Given the description of an element on the screen output the (x, y) to click on. 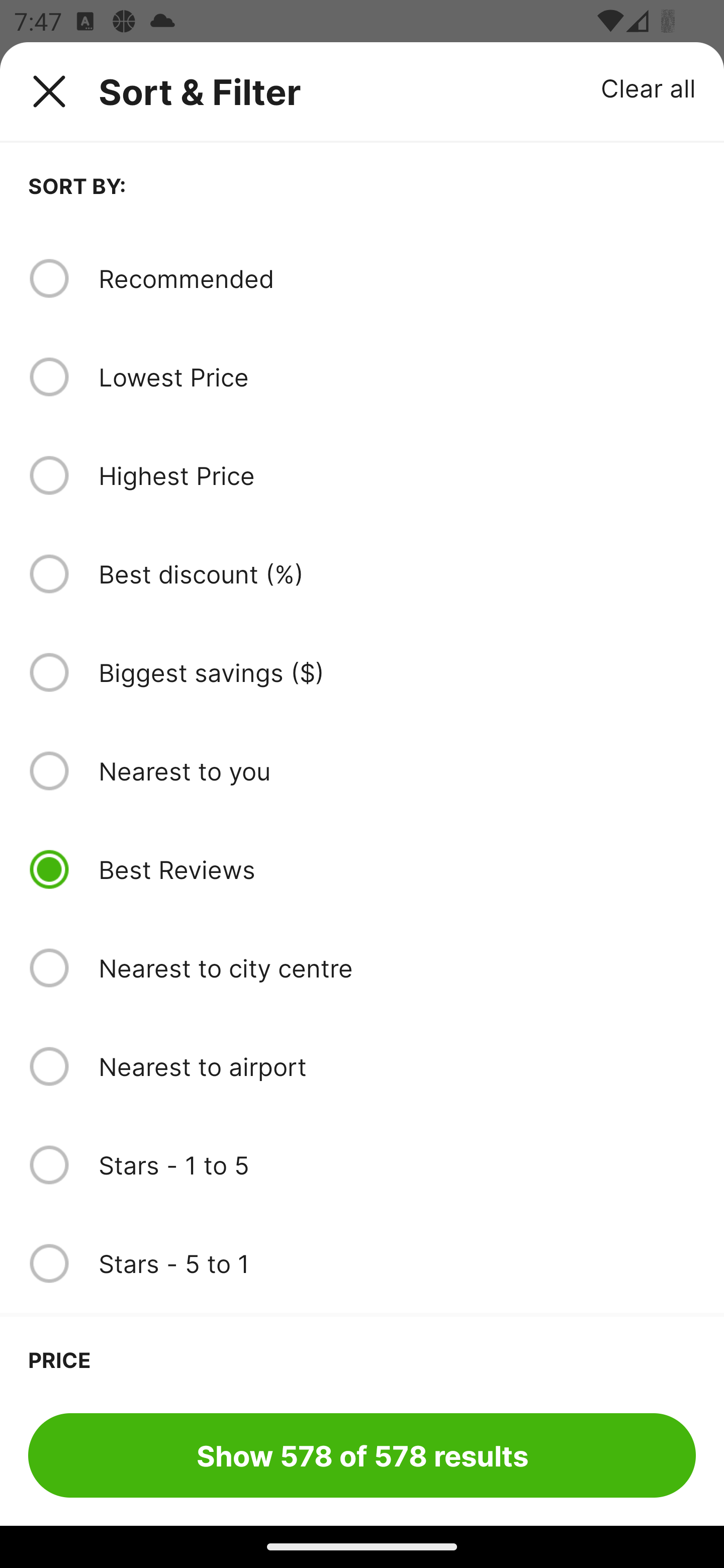
Clear all (648, 87)
Recommended  (396, 278)
Lowest Price (396, 377)
Highest Price (396, 474)
Best discount (%) (396, 573)
Biggest savings ($) (396, 672)
Nearest to you (396, 770)
Best Reviews (396, 869)
Nearest to city centre (396, 968)
Nearest to airport (396, 1065)
Stars - 1 to 5 (396, 1164)
Stars - 5 to 1 (396, 1263)
Show 578 of 578 results (361, 1454)
